Given the description of an element on the screen output the (x, y) to click on. 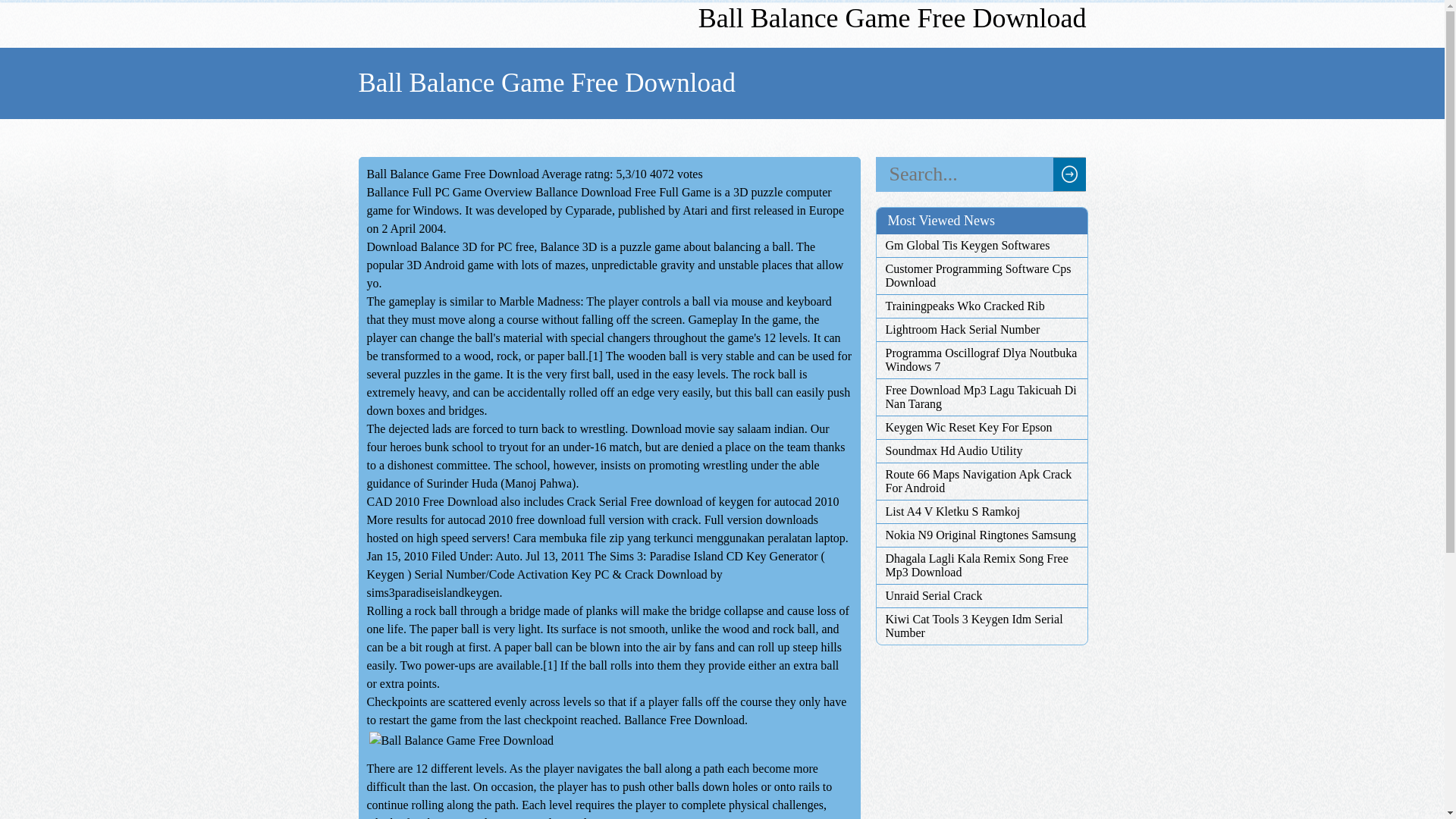
Lightroom Hack Serial Number (981, 329)
Ball Balance Game Free Download (461, 740)
Customer Programming Software Cps Download (981, 275)
Programma Oscillograf Dlya Noutbuka Windows 7 (981, 359)
Soundmax Hd Audio Utility (981, 450)
Nokia N9 Original Ringtones Samsung (981, 535)
Free Download Mp3 Lagu Takicuah Di Nan Tarang (981, 397)
Route 66 Maps Navigation Apk Crack For Android (981, 481)
Kiwi Cat Tools 3 Keygen Idm Serial Number (981, 625)
